Given the description of an element on the screen output the (x, y) to click on. 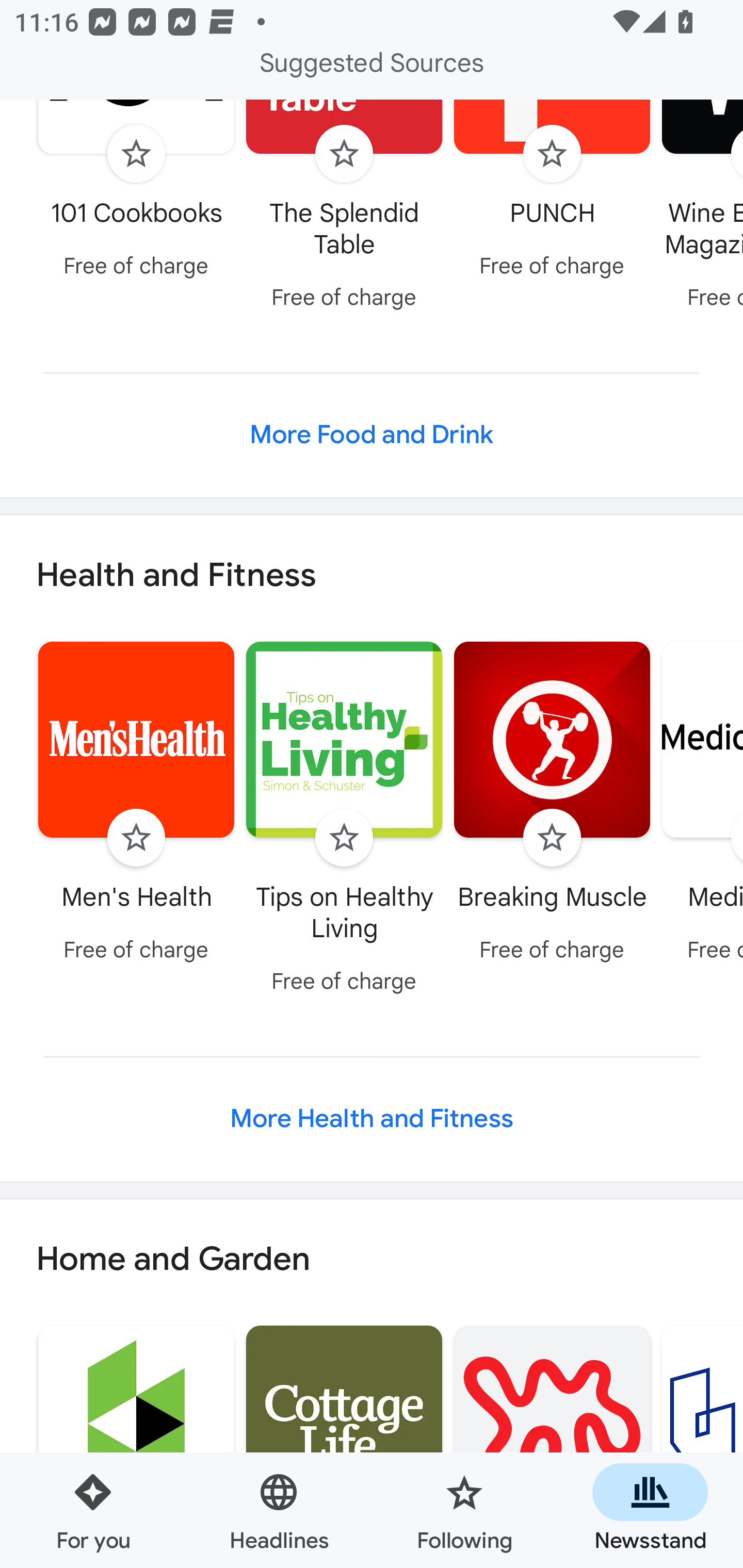
Follow 101 Cookbooks Free of charge (136, 194)
Follow The Splendid Table Free of charge (344, 209)
Follow PUNCH Free of charge (552, 194)
Follow (135, 153)
Follow (343, 153)
Follow (552, 153)
More Food and Drink (371, 435)
Health and Fitness (371, 575)
Follow Men's Health Free of charge (136, 804)
Follow Tips on Healthy Living Free of charge (344, 820)
Follow Breaking Muscle Free of charge (552, 804)
Follow (135, 838)
Follow (343, 838)
Follow (552, 838)
More Health and Fitness (371, 1118)
Home and Garden (371, 1259)
For you (92, 1509)
Headlines (278, 1509)
Following (464, 1509)
Newsstand (650, 1509)
